Given the description of an element on the screen output the (x, y) to click on. 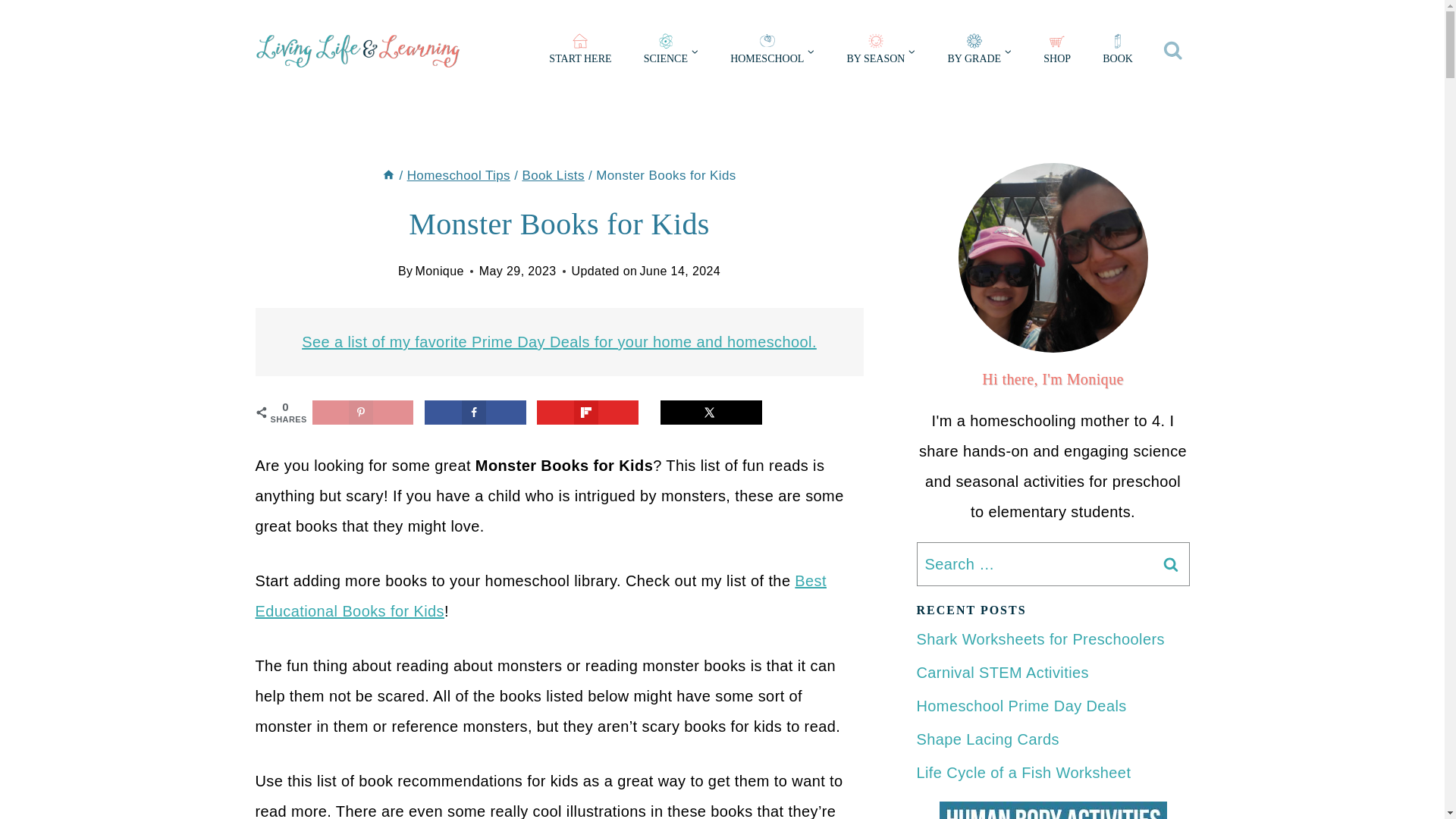
BY SEASON (880, 51)
START HERE (579, 51)
Home (387, 175)
Homeschool Planning Book (1117, 51)
Share on Flipboard (588, 412)
New to homeschool? Start here (579, 51)
Share on X (711, 412)
Science Activities (670, 51)
BY GRADE (979, 51)
Homeschooling Ideas (771, 51)
The Living Life and Learning Shop (1056, 51)
SCIENCE (670, 51)
HOMESCHOOL (771, 51)
Share on Facebook (475, 412)
Save to Pinterest (363, 412)
